Given the description of an element on the screen output the (x, y) to click on. 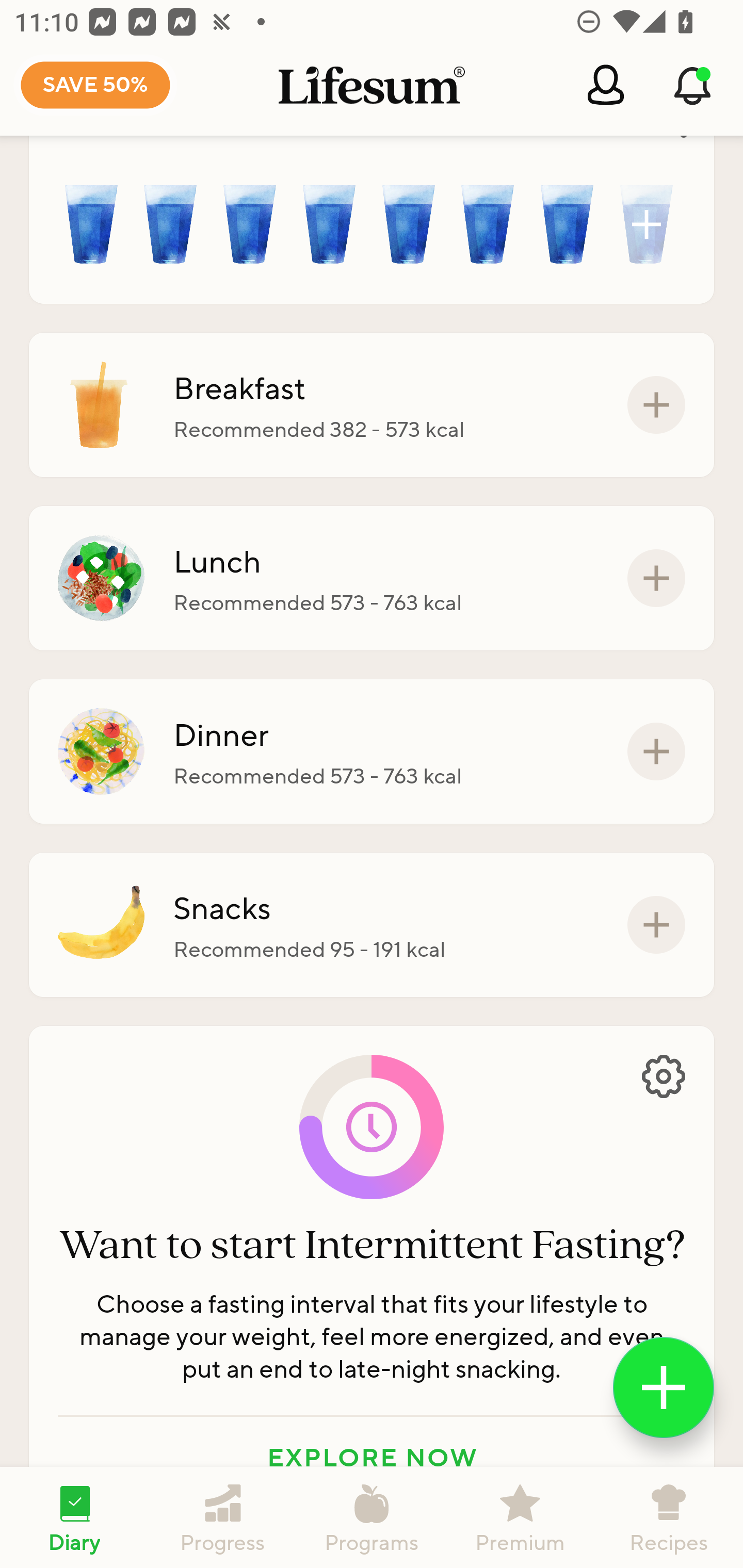
Breakfast Recommended 382 - 573 kcal (371, 404)
Lunch Recommended 573 - 763 kcal (371, 578)
Dinner Recommended 573 - 763 kcal (371, 750)
Snacks Recommended 95 - 191 kcal (371, 924)
EXPLORE NOW (371, 1457)
Progress (222, 1517)
Programs (371, 1517)
Premium (519, 1517)
Recipes (668, 1517)
